Given the description of an element on the screen output the (x, y) to click on. 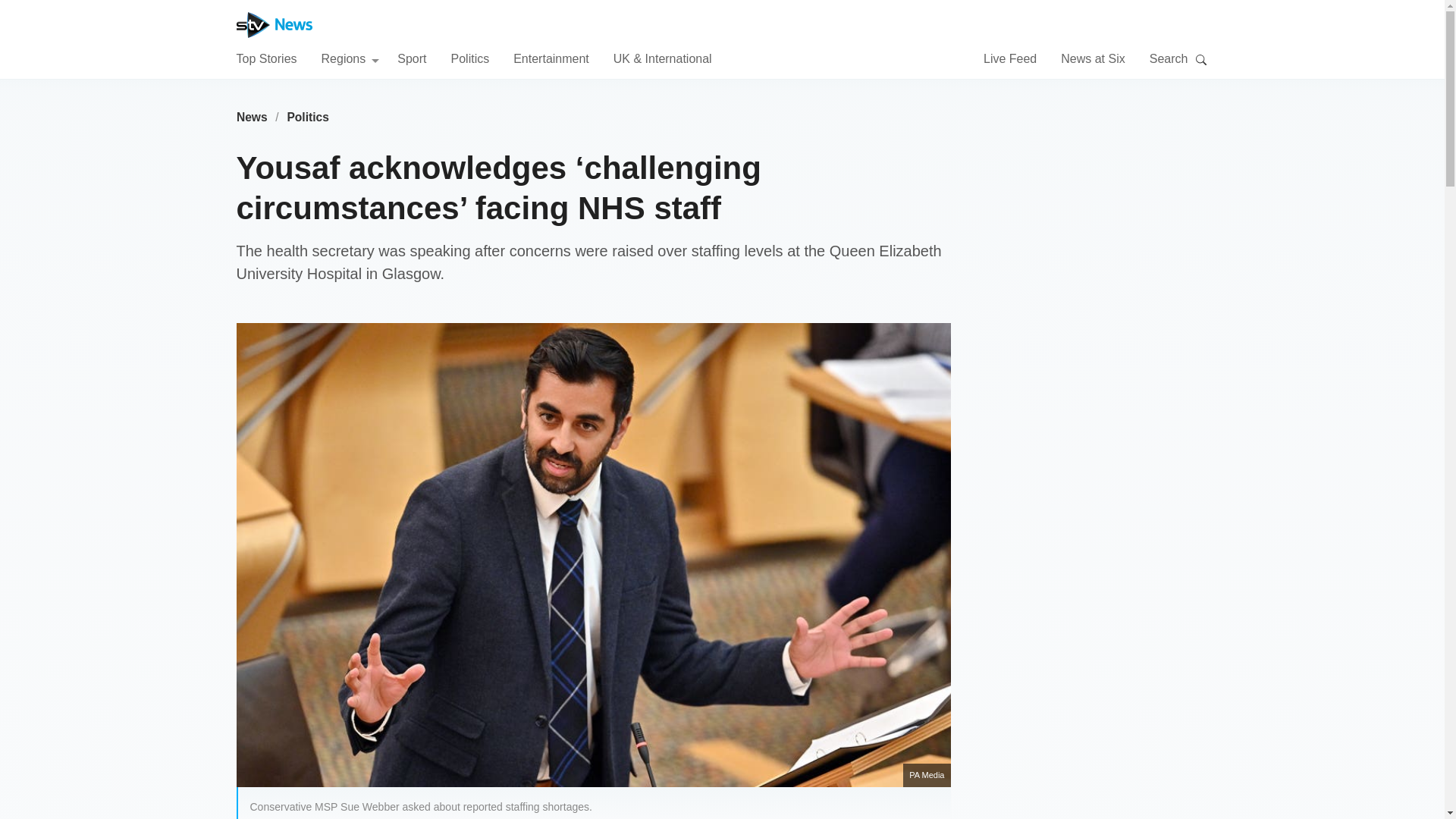
Search (1201, 59)
Regions (350, 57)
News (252, 116)
Politics (307, 116)
News at Six (1092, 57)
Top Stories (266, 57)
Entertainment (551, 57)
Live Feed (1010, 57)
Politics (469, 57)
